Given the description of an element on the screen output the (x, y) to click on. 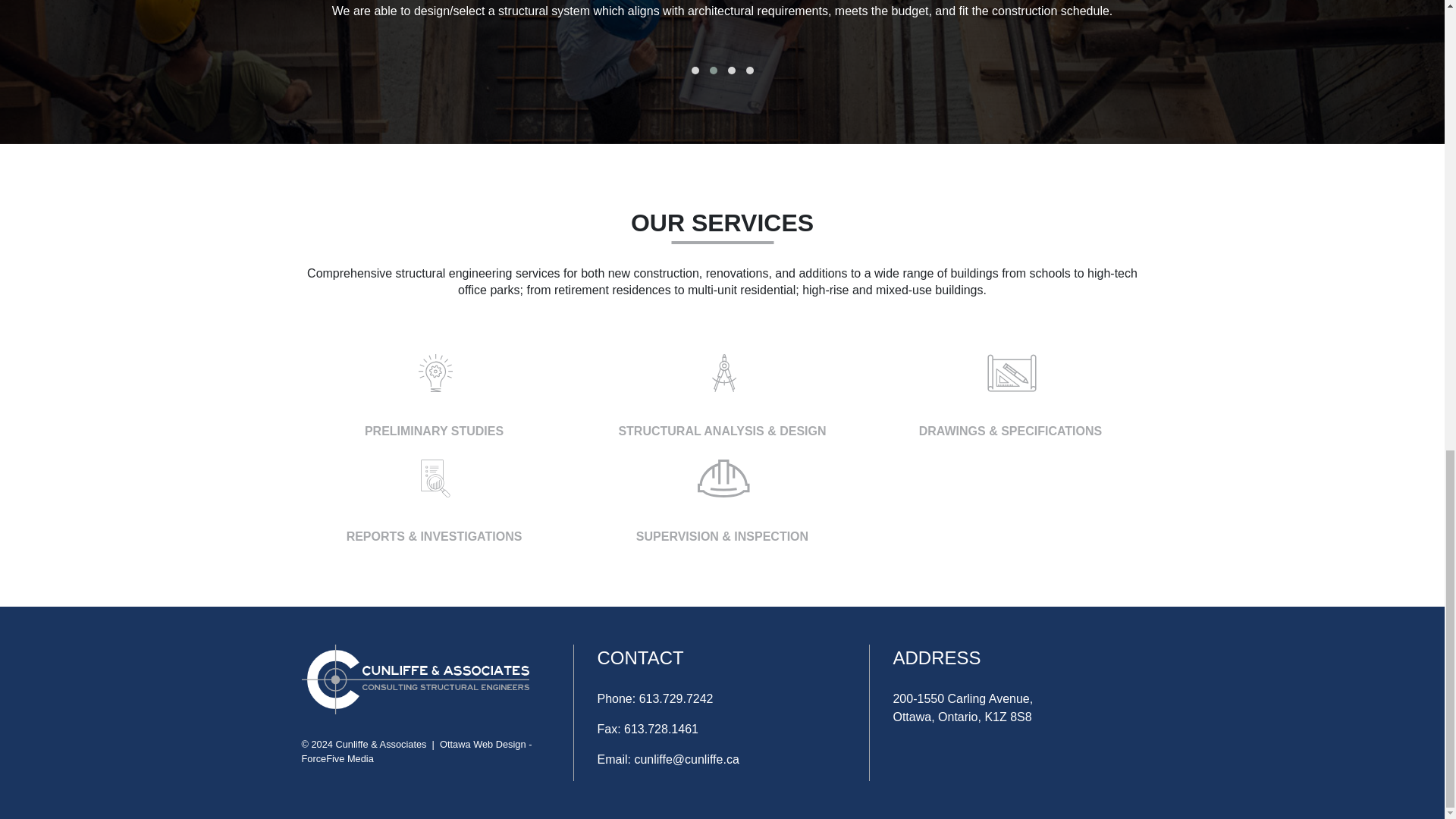
Ottawa web design (482, 744)
Ottawa web design (337, 758)
hardhat (723, 478)
